Given the description of an element on the screen output the (x, y) to click on. 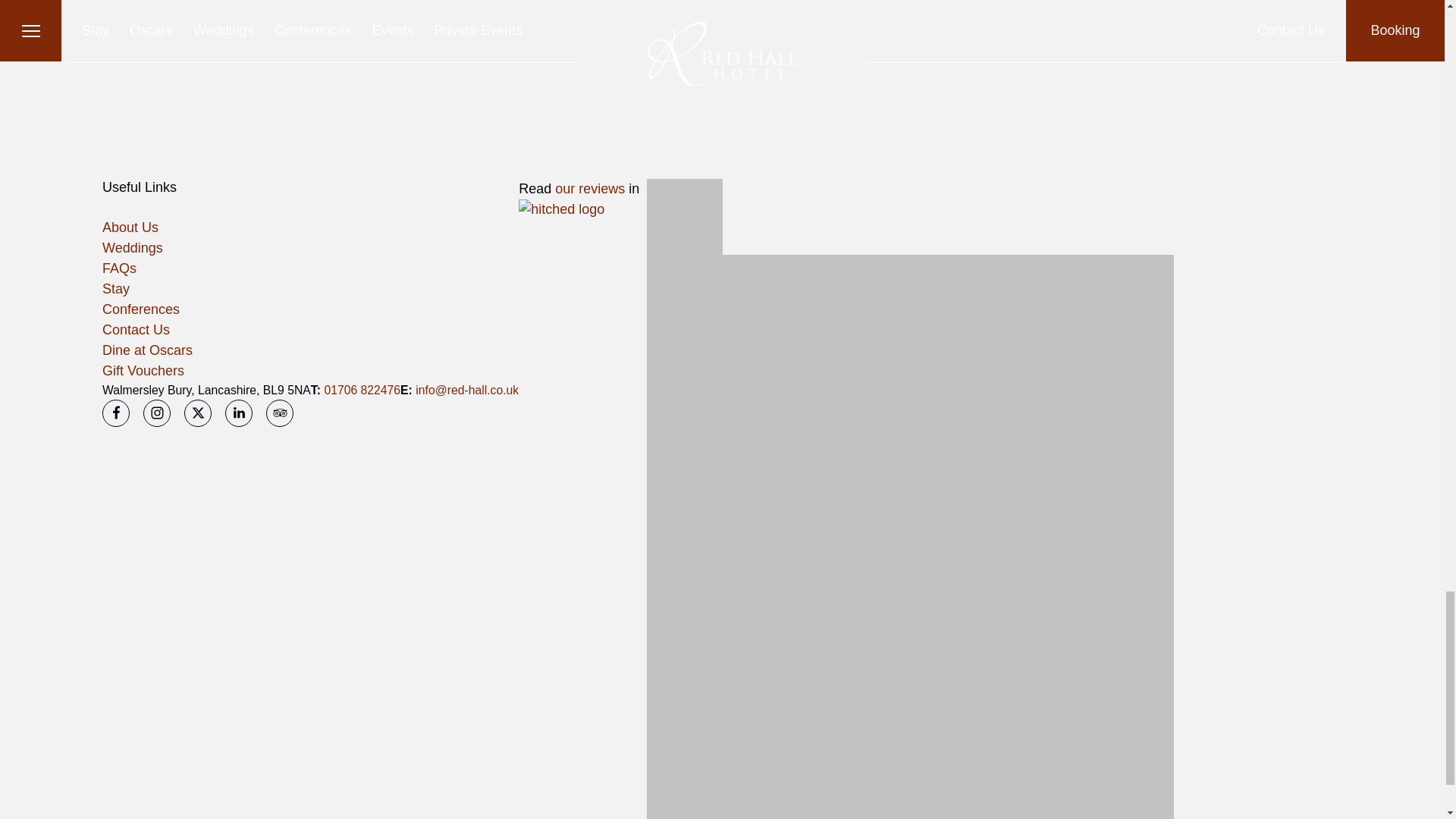
Contact Us (135, 329)
Conferences (140, 309)
FAQs (118, 268)
Stay (115, 288)
About Us (129, 227)
Weddings (132, 247)
